Given the description of an element on the screen output the (x, y) to click on. 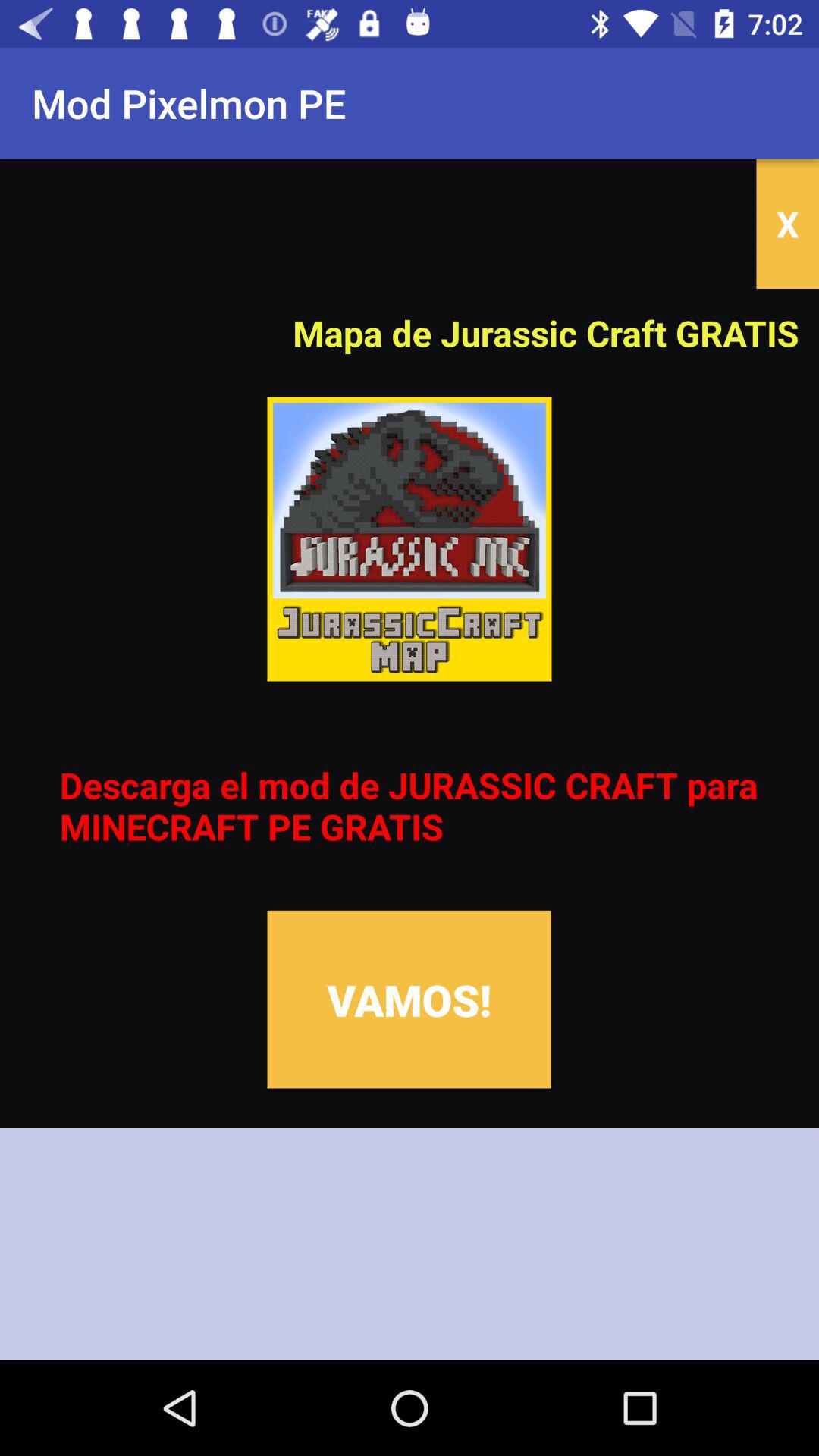
select icon above mapa de jurassic icon (787, 223)
